Given the description of an element on the screen output the (x, y) to click on. 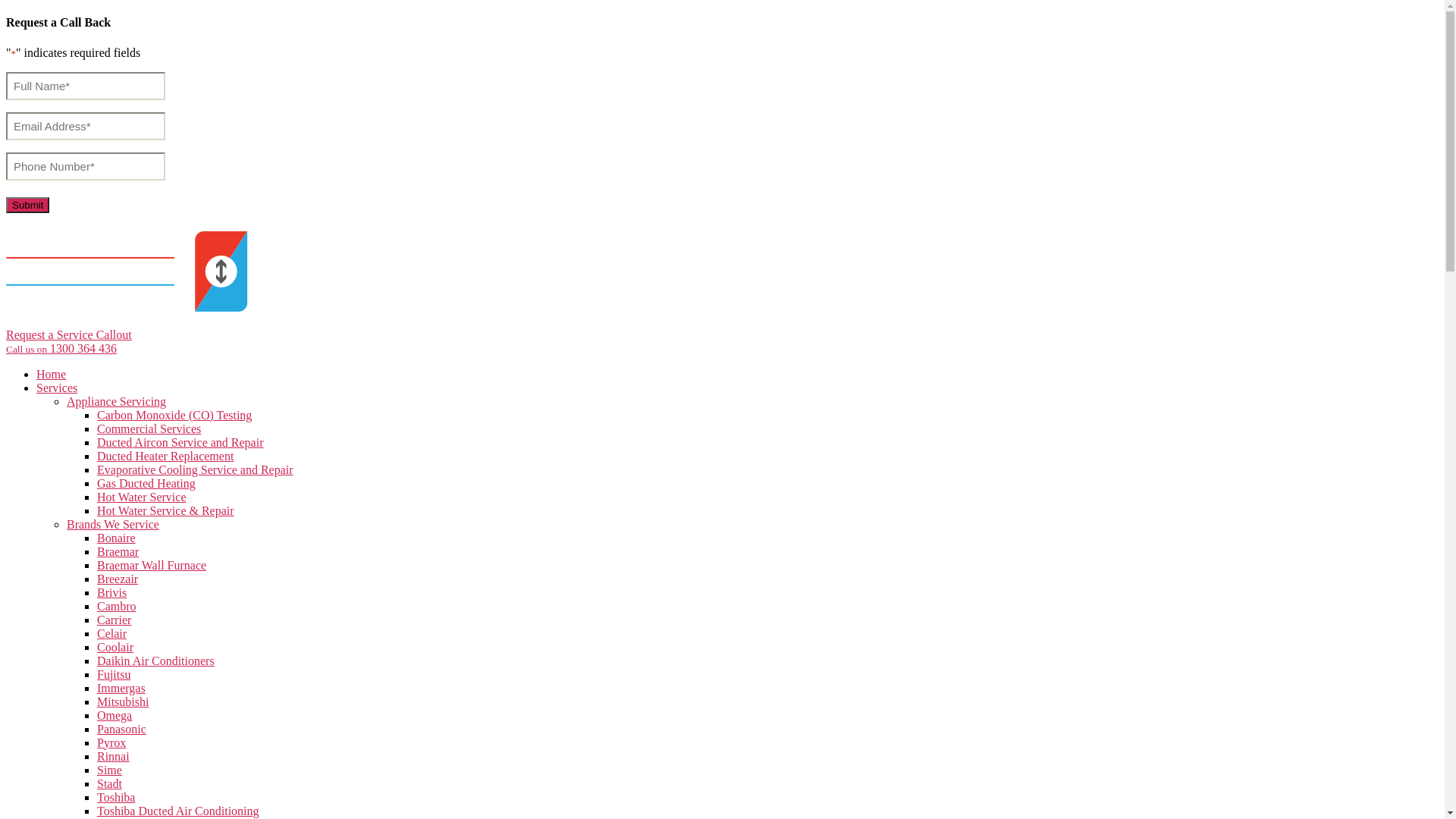
Brands We Service Element type: text (112, 523)
Fujitsu Element type: text (113, 674)
Daikin Air Conditioners Element type: text (155, 660)
Mitsubishi Element type: text (122, 701)
Braemar Element type: text (117, 551)
Hot Water Service Element type: text (141, 496)
Hot Water Service & Repair Element type: text (165, 510)
Carbon Monoxide (CO) Testing Element type: text (174, 414)
Immergas Element type: text (121, 687)
Celair Element type: text (111, 633)
Appliance Servicing Element type: text (116, 401)
Bonaire Element type: text (116, 537)
Cambro Element type: text (116, 605)
Panasonic Element type: text (121, 728)
Pyrox Element type: text (111, 742)
Breezair Element type: text (117, 578)
Gas Ducted Heating Element type: text (146, 482)
Toshiba Ducted Air Conditioning Element type: text (178, 810)
Rinnai Element type: text (113, 755)
Omega Element type: text (114, 715)
Ducted Aircon Service and Repair Element type: text (180, 442)
Braemar Wall Furnace Element type: text (151, 564)
Carrier Element type: text (114, 619)
Toshiba Element type: text (115, 796)
Ducted Heater Replacement Element type: text (165, 455)
Submit Element type: text (27, 205)
Home Element type: text (50, 373)
Coolair Element type: text (115, 646)
Request a Service Callout Element type: text (68, 334)
Evaporative Cooling Service and Repair Element type: text (195, 469)
Call us on 1300 364 436 Element type: text (61, 348)
Brivis Element type: text (111, 592)
Stadt Element type: text (109, 783)
Sime Element type: text (109, 769)
Services Element type: text (56, 387)
Commercial Services Element type: text (148, 428)
